Given the description of an element on the screen output the (x, y) to click on. 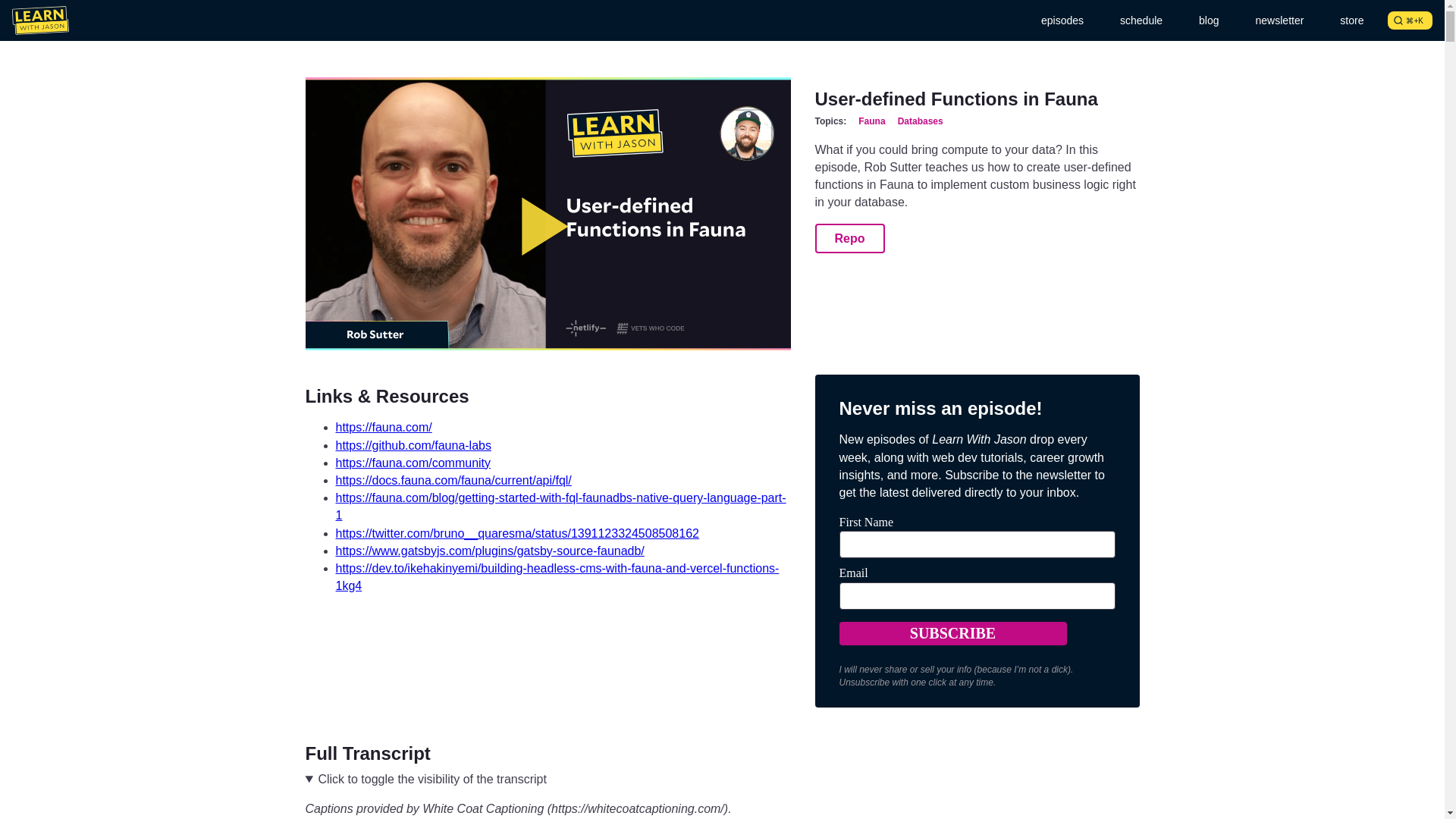
newsletter (1279, 20)
store (1351, 20)
SUBSCRIBE (951, 633)
Databases (920, 121)
episodes (1062, 20)
home (39, 20)
Repo (848, 238)
blog (1208, 20)
Fauna (872, 121)
schedule (1141, 20)
